Given the description of an element on the screen output the (x, y) to click on. 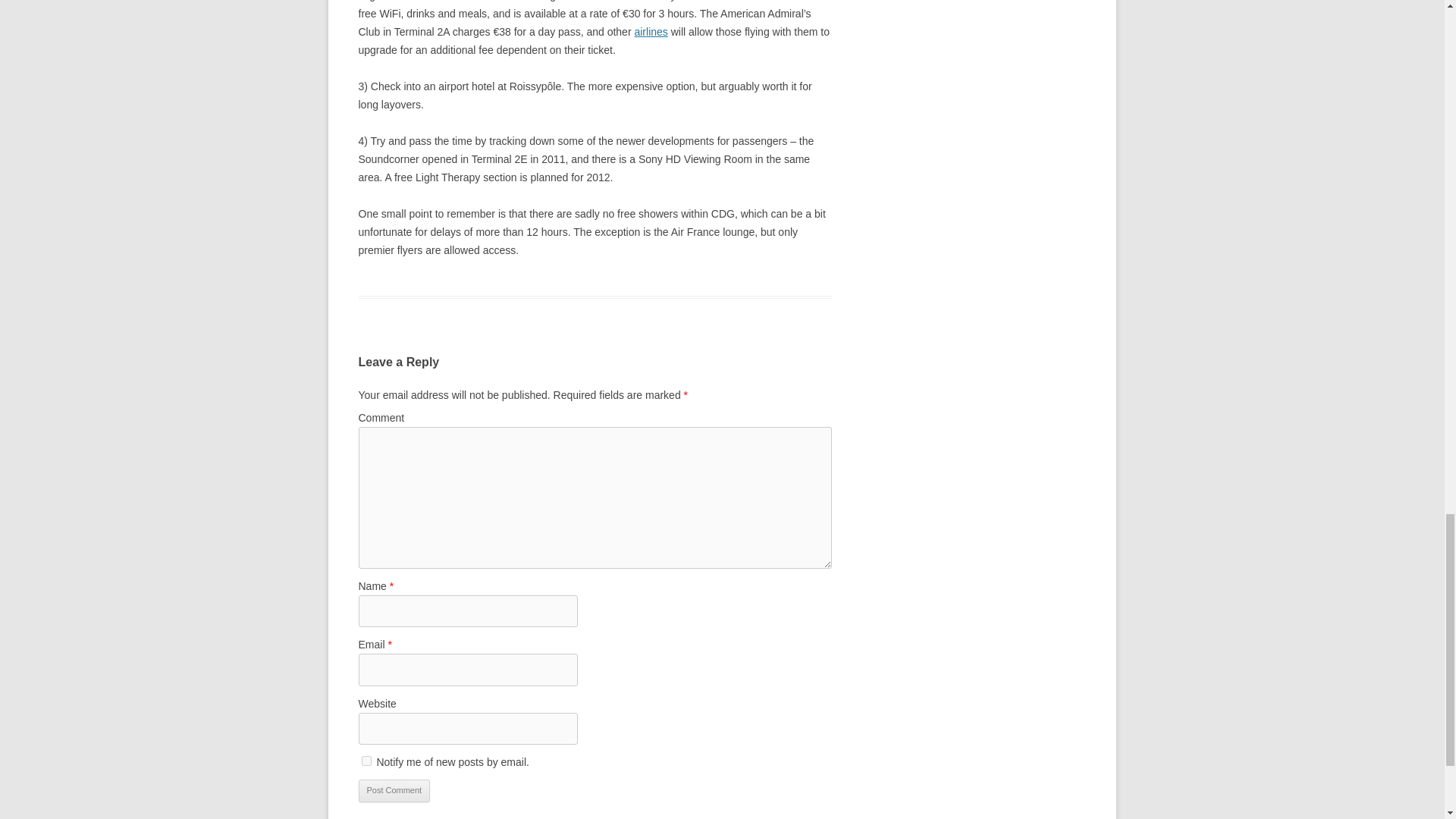
Post Comment (393, 790)
airlines (649, 31)
subscribe (366, 760)
